Given the description of an element on the screen output the (x, y) to click on. 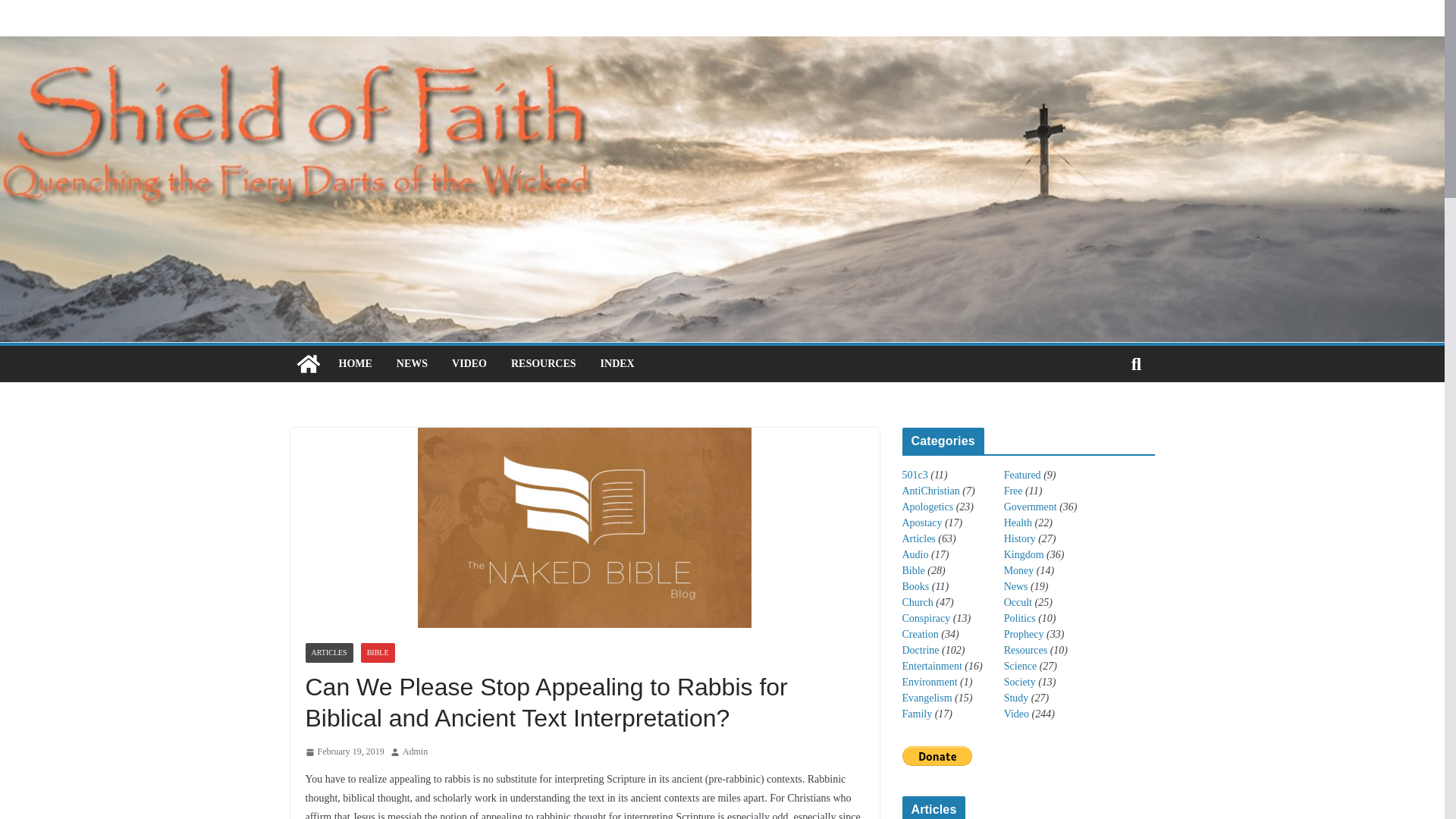
Bible (913, 570)
Apologetics (927, 506)
Audio (915, 554)
Church (917, 602)
RESOURCES (543, 363)
Admin (415, 751)
NEWS (412, 363)
Books (916, 586)
Conspiracy (926, 618)
February 19, 2019 (344, 751)
VIDEO (468, 363)
ARTICLES (328, 652)
BIBLE (377, 652)
7:03 am (344, 751)
Admin (415, 751)
